Given the description of an element on the screen output the (x, y) to click on. 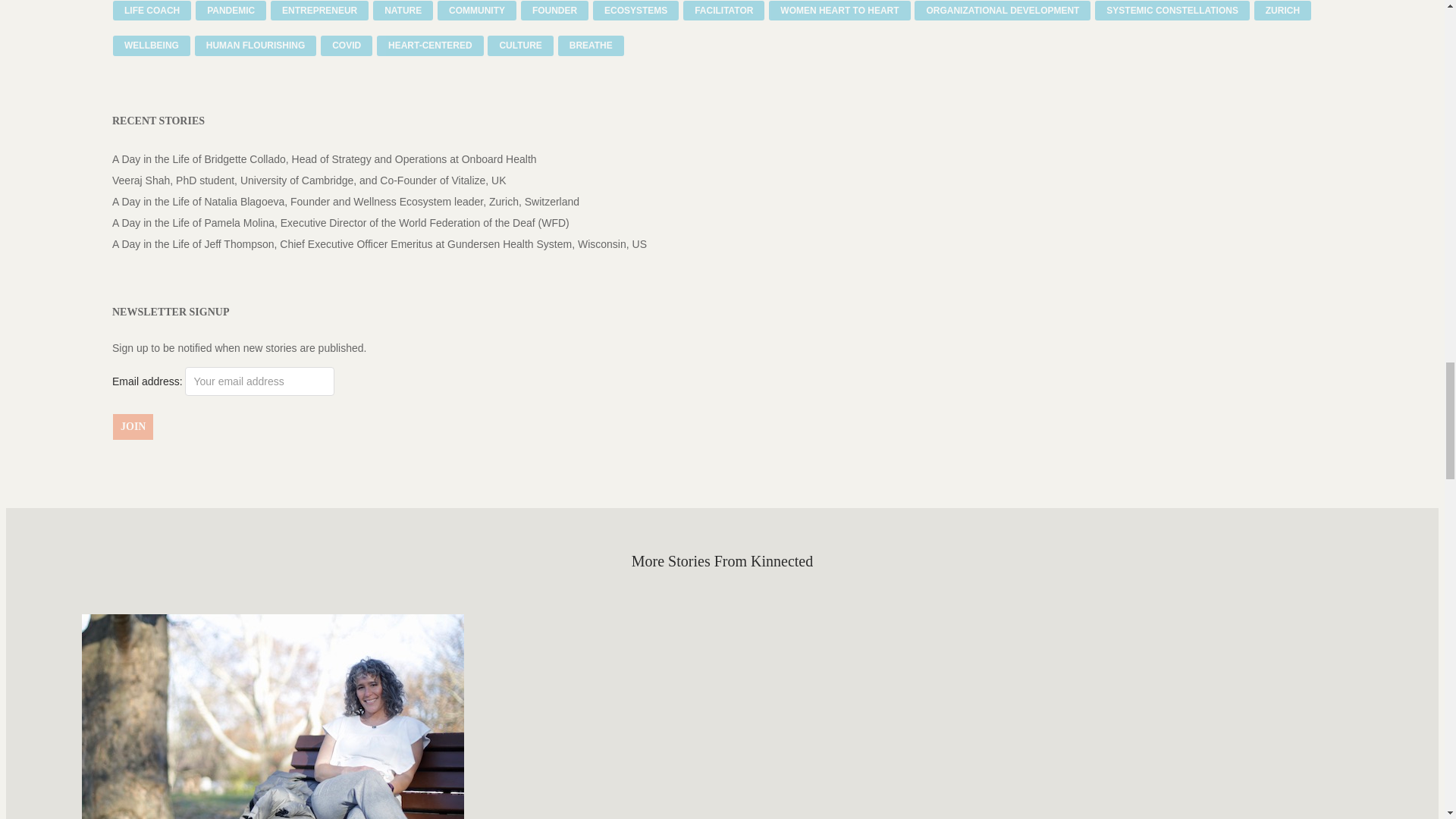
ZURICH (1282, 10)
COMMUNITY (477, 10)
WOMEN HEART TO HEART (839, 10)
NATURE (402, 10)
LIFE COACH (151, 10)
HUMAN FLOURISHING (256, 45)
WELLBEING (151, 45)
ORGANIZATIONAL DEVELOPMENT (1002, 10)
CULTURE (520, 45)
ENTREPRENEUR (319, 10)
